Given the description of an element on the screen output the (x, y) to click on. 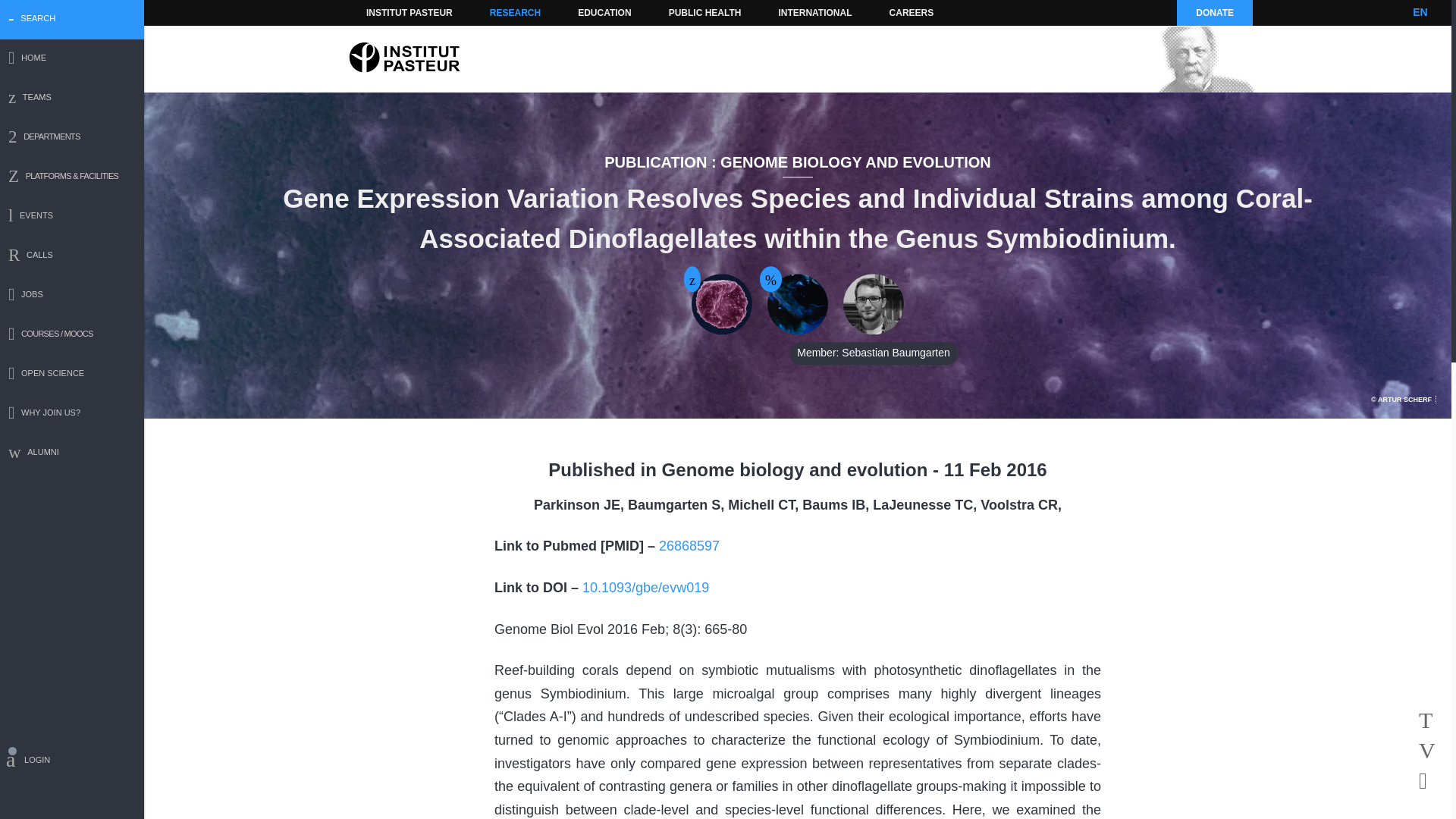
DONATE (1214, 12)
CALLS (72, 256)
LOGIN (72, 762)
EDUCATION (603, 12)
Skip to content (387, 11)
INTERNATIONAL (814, 12)
WHY JOIN US? (72, 413)
INSTITUT PASTEUR (409, 12)
EN (1419, 11)
OPEN SCIENCE (72, 374)
